Given the description of an element on the screen output the (x, y) to click on. 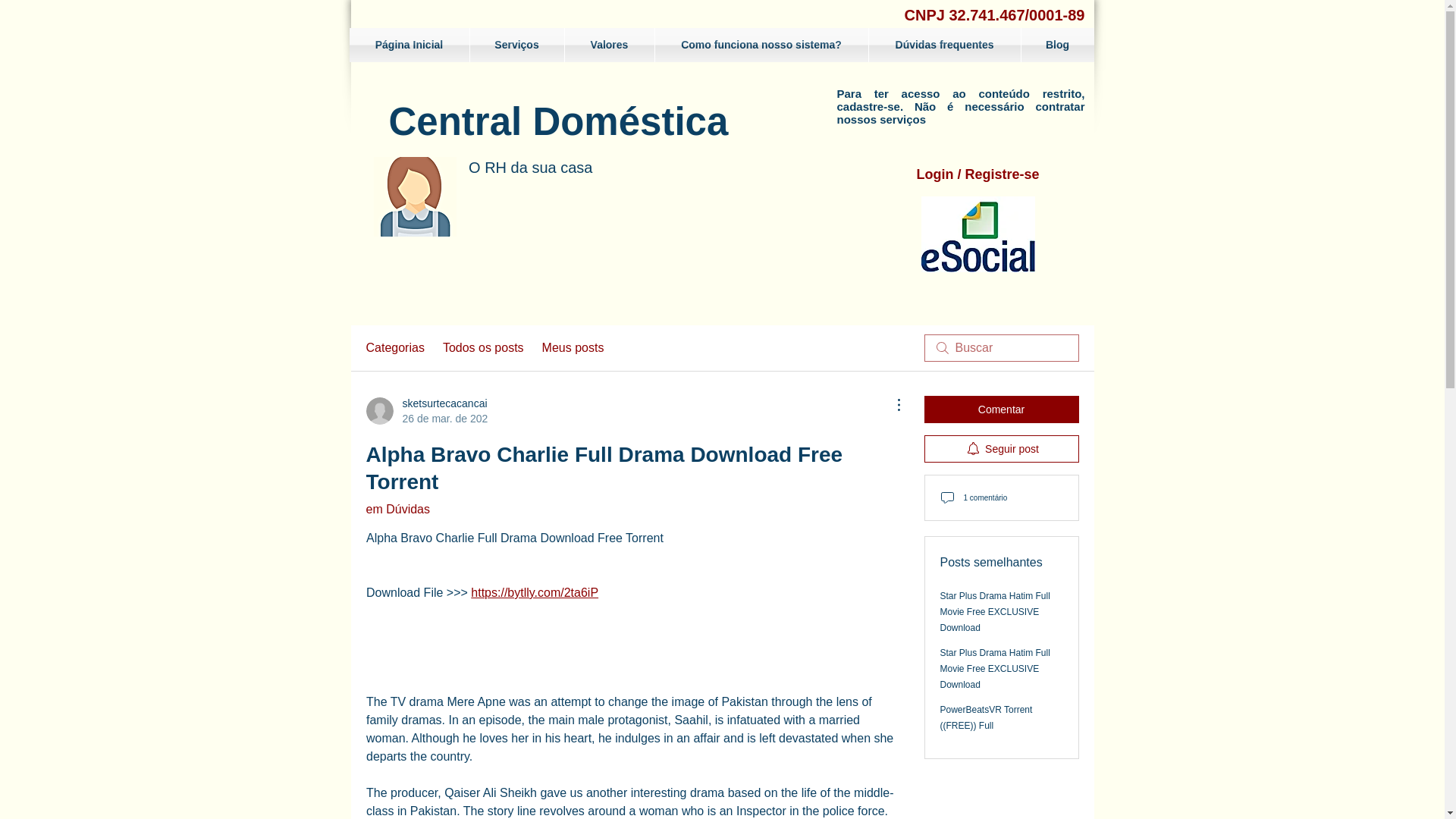
Blog (1056, 44)
Star Plus Drama Hatim Full Movie Free EXCLUSIVE Download (994, 611)
Meus posts (572, 348)
Star Plus Drama Hatim Full Movie Free EXCLUSIVE Download (994, 668)
Comentar (1000, 409)
Categorias (394, 348)
Todos os posts (483, 348)
Como funciona nosso sistema? (761, 44)
Valores (425, 410)
